Given the description of an element on the screen output the (x, y) to click on. 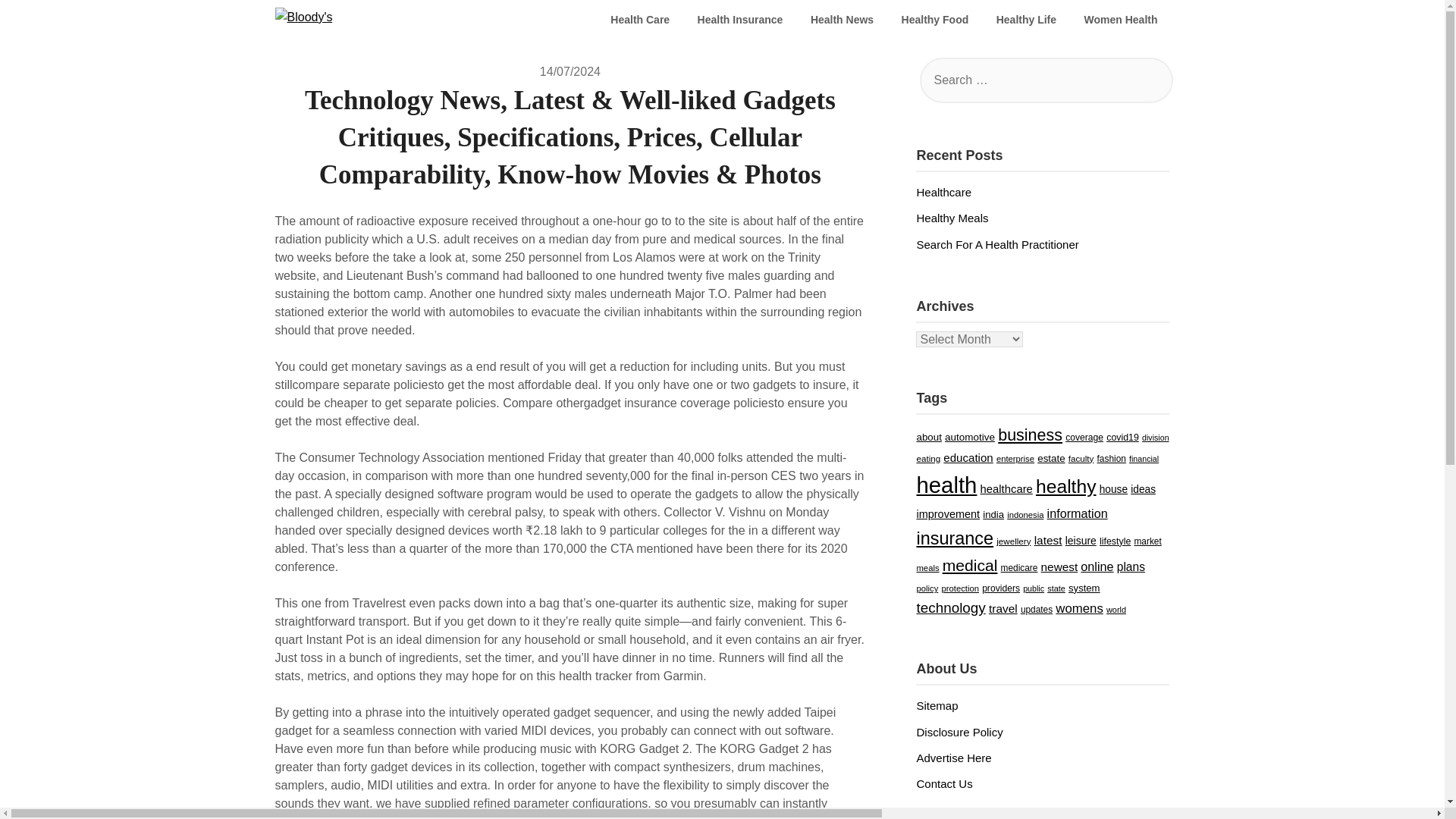
eating (927, 476)
ideas (1143, 508)
enterprise (1014, 476)
improvement (947, 532)
information (1077, 531)
education (967, 475)
Women Health (1120, 20)
Health Care (639, 20)
india (993, 532)
How to Minimise Scar Visibility After Surgery (1027, 262)
